Given the description of an element on the screen output the (x, y) to click on. 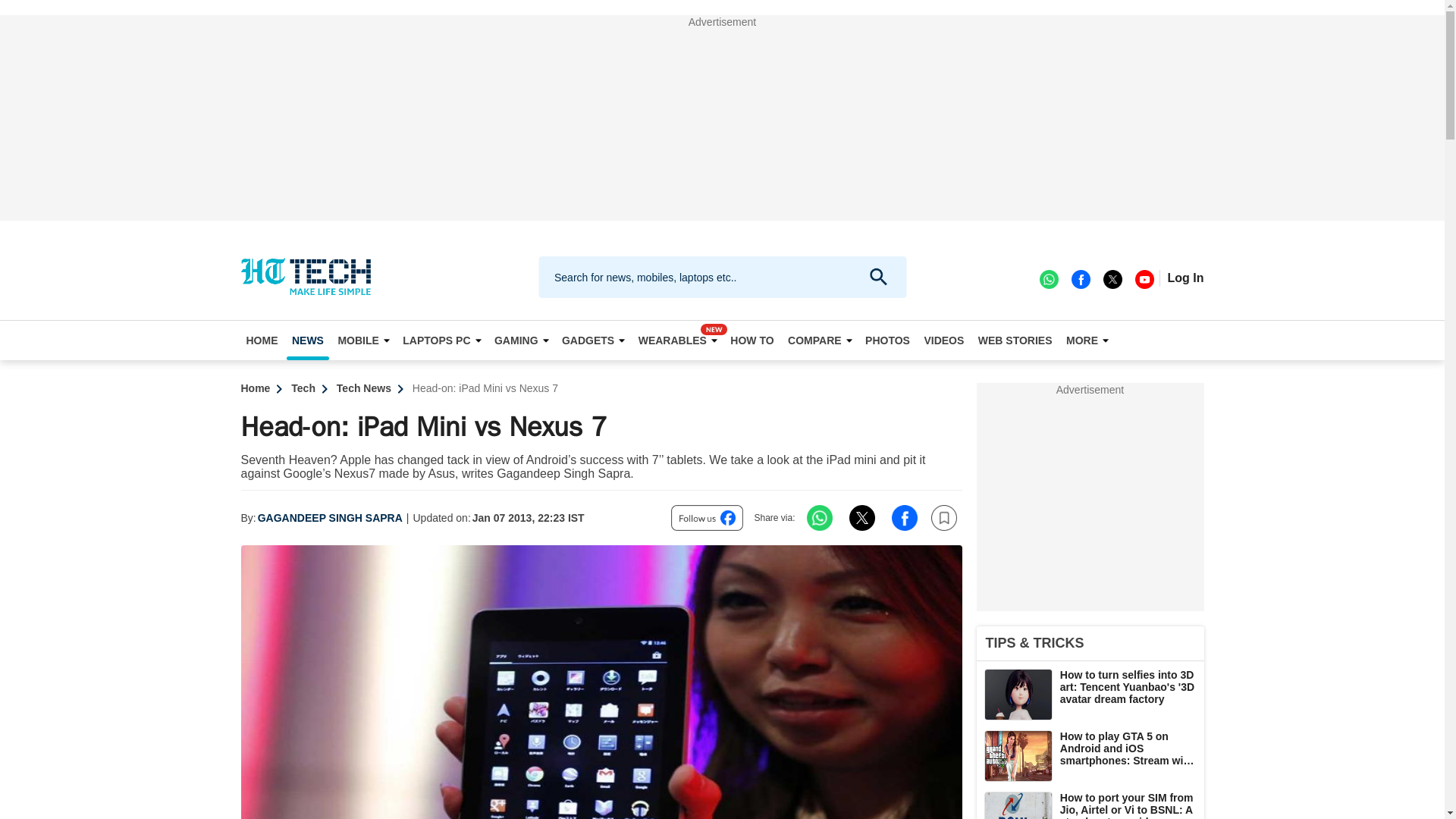
Login (1185, 277)
MOBILE (362, 340)
GAMING (521, 340)
HOME (262, 340)
HOW TO (751, 340)
facebook (1079, 278)
youtube (1143, 278)
GADGETS (592, 340)
Get to know more about News from India and around the world. (307, 340)
twitter (1111, 278)
COMPARE (820, 340)
WhatsApp channel (1048, 278)
LAPTOPS PC (440, 340)
